Given the description of an element on the screen output the (x, y) to click on. 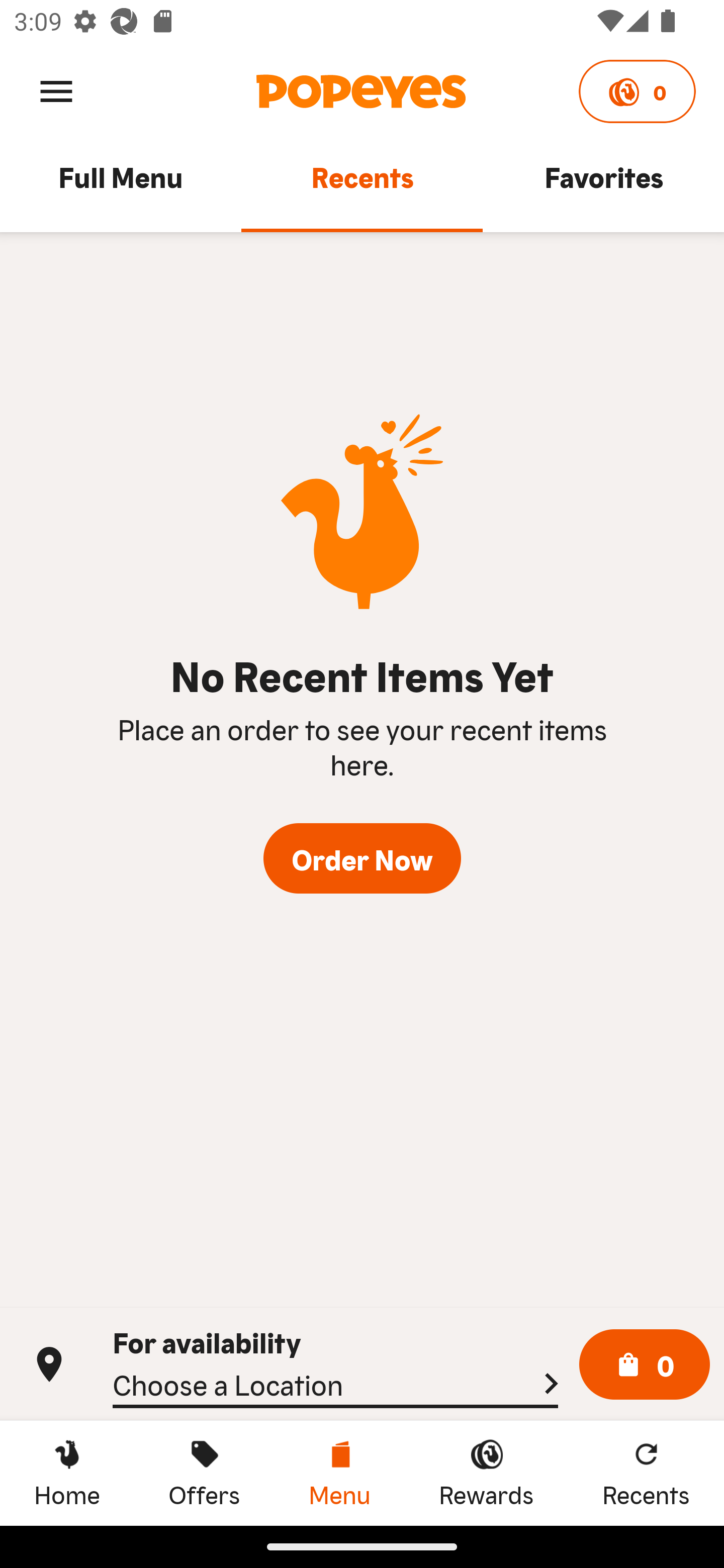
Menu  (56, 90)
0 Points 0 (636, 91)
Full Menu (120, 186)
Recents (361, 186)
Favorites (603, 186)
Order Now (362, 858)
0 Cart total  0 (644, 1364)
Home Home Home (66, 1472)
Offers Offers Offers (203, 1472)
Menu, current page Menu Menu, current page (339, 1472)
Rewards Rewards Rewards (486, 1472)
Recents Recents Recents (646, 1472)
